Given the description of an element on the screen output the (x, y) to click on. 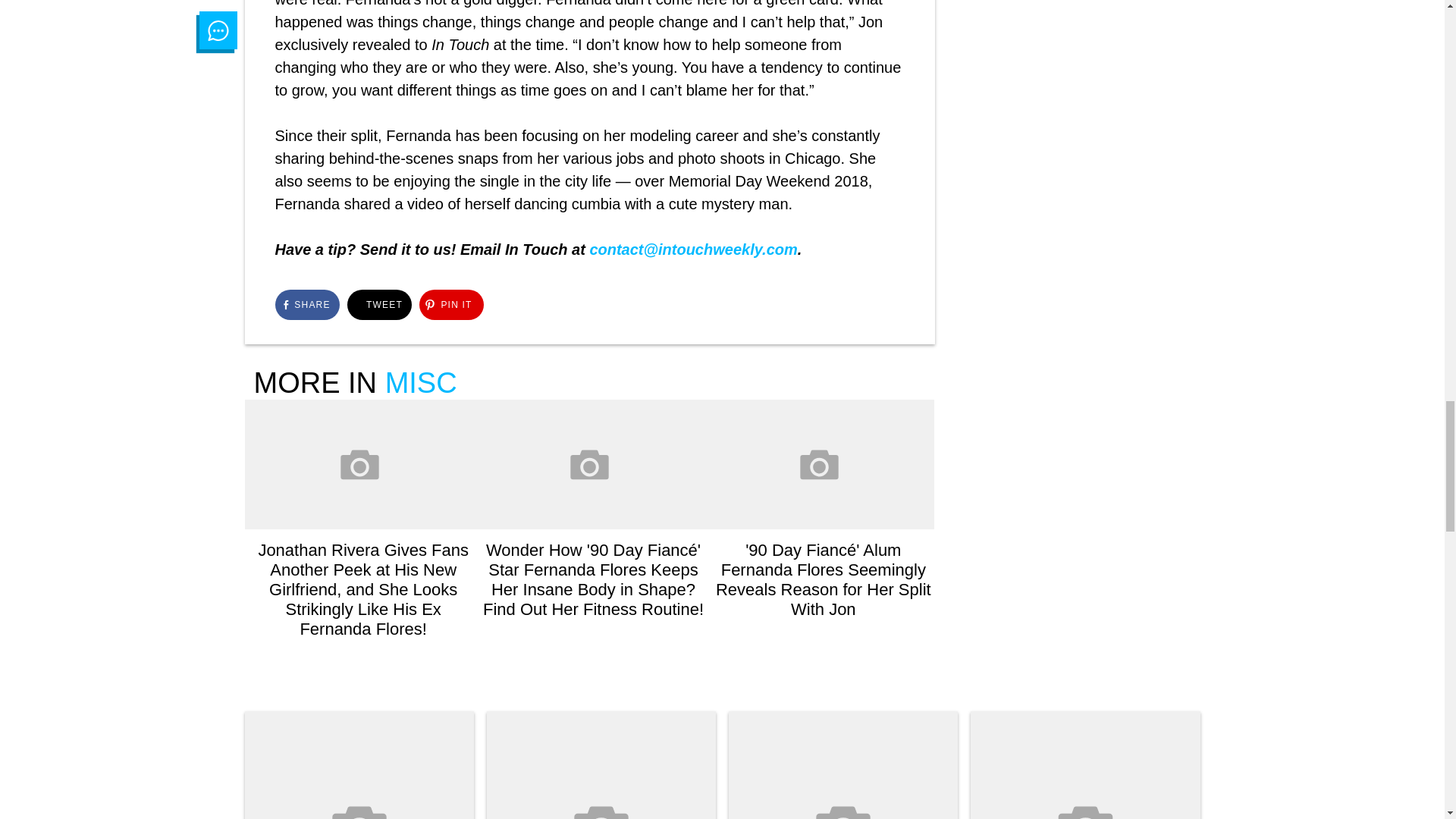
Click to share on Pinterest (451, 304)
Click to share on Twitter (379, 304)
Click to share on Facebook (307, 304)
